Given the description of an element on the screen output the (x, y) to click on. 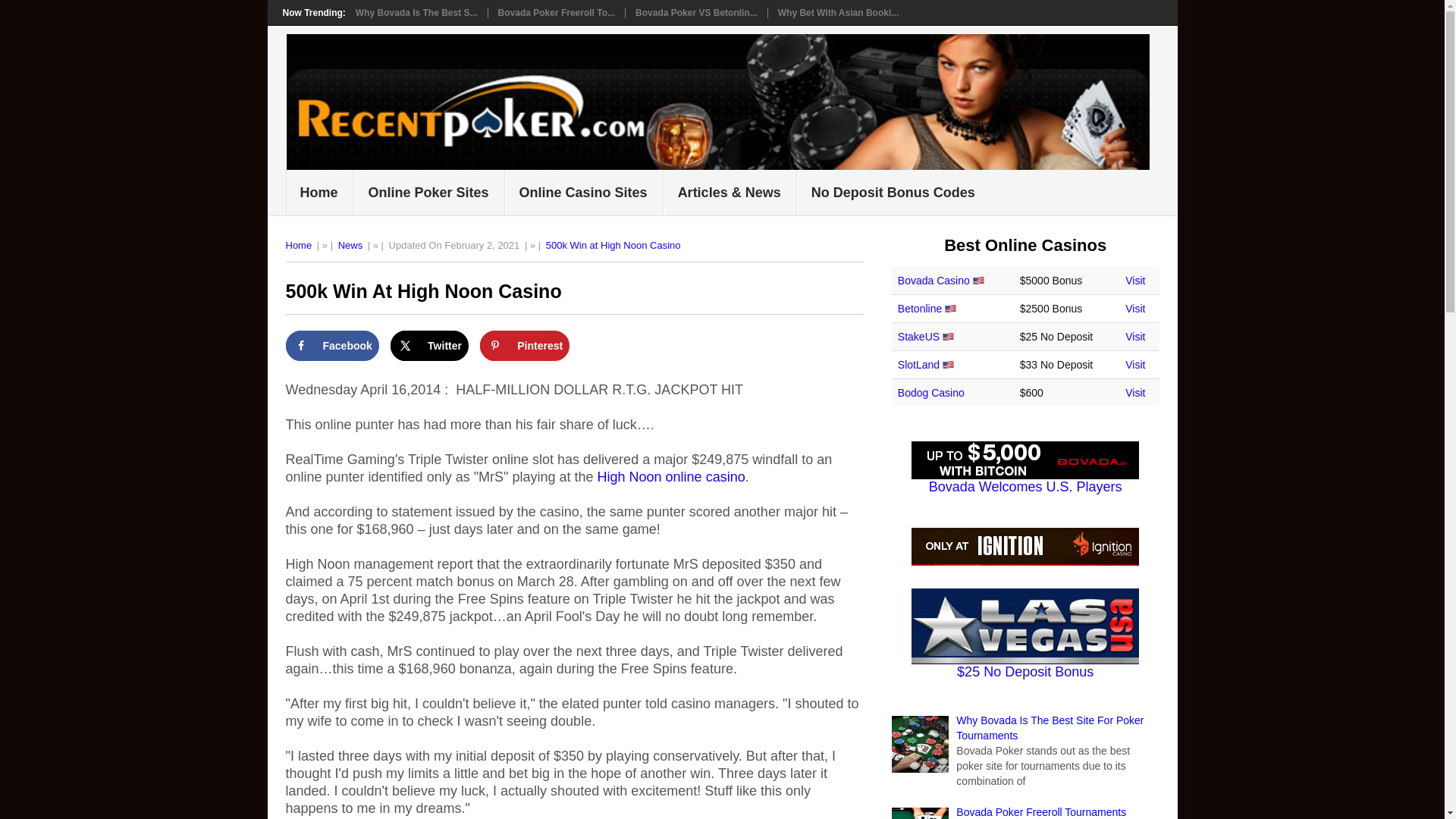
Bovada Poker Freeroll Tournaments (1040, 811)
Visit (1134, 364)
Online Poker Sites (429, 192)
SlotLand (918, 364)
Bovada Poker VS Betonline Poker (695, 12)
Home (298, 244)
Why Bovada Is The Best Site For Poker Tournaments (416, 12)
Visit (1134, 336)
Visit (1134, 308)
Why Bovada Is The Best Site For Poker Tournaments (1049, 728)
